Given the description of an element on the screen output the (x, y) to click on. 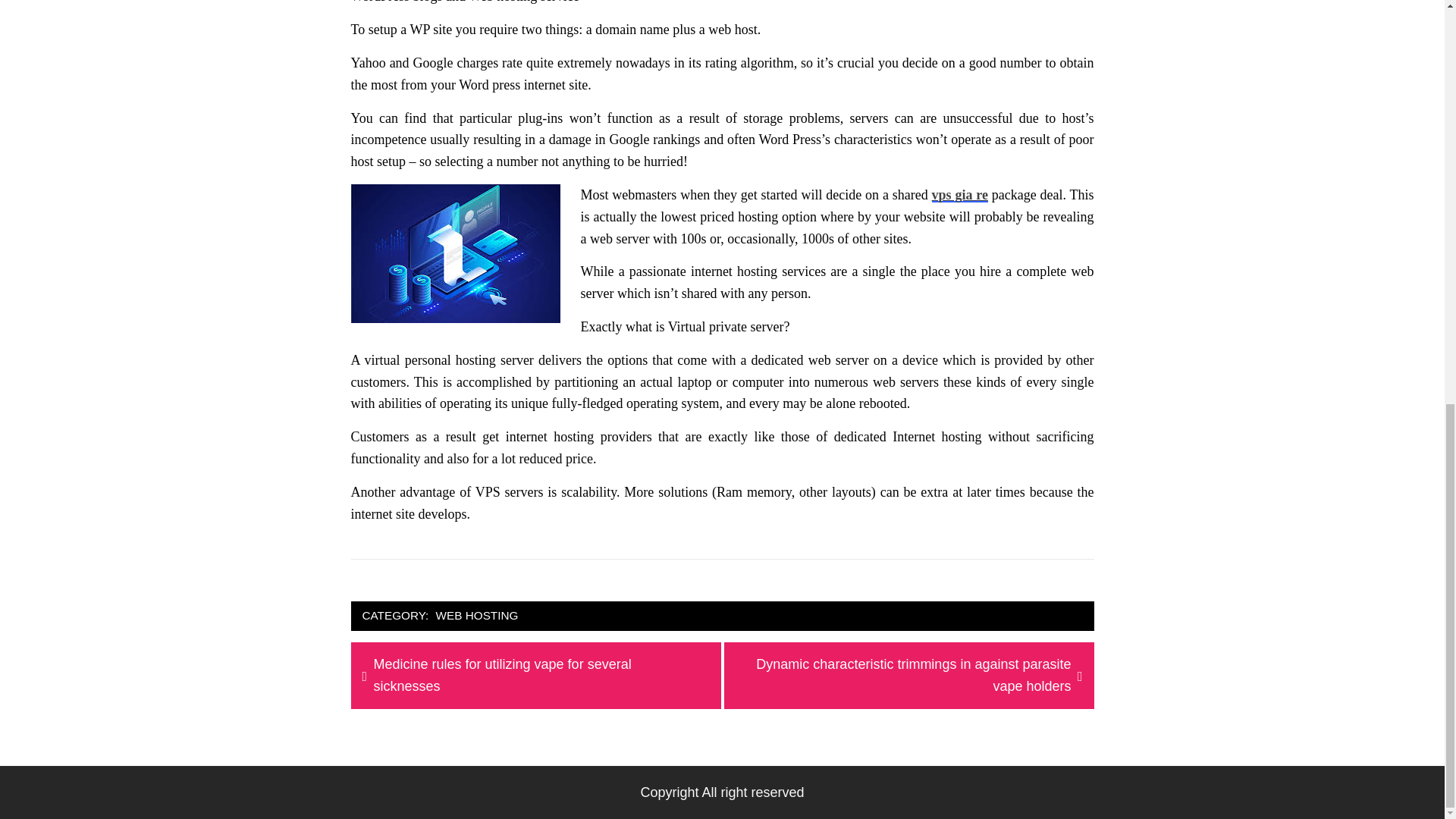
vps gia re (959, 194)
WEB HOSTING (477, 616)
